Given the description of an element on the screen output the (x, y) to click on. 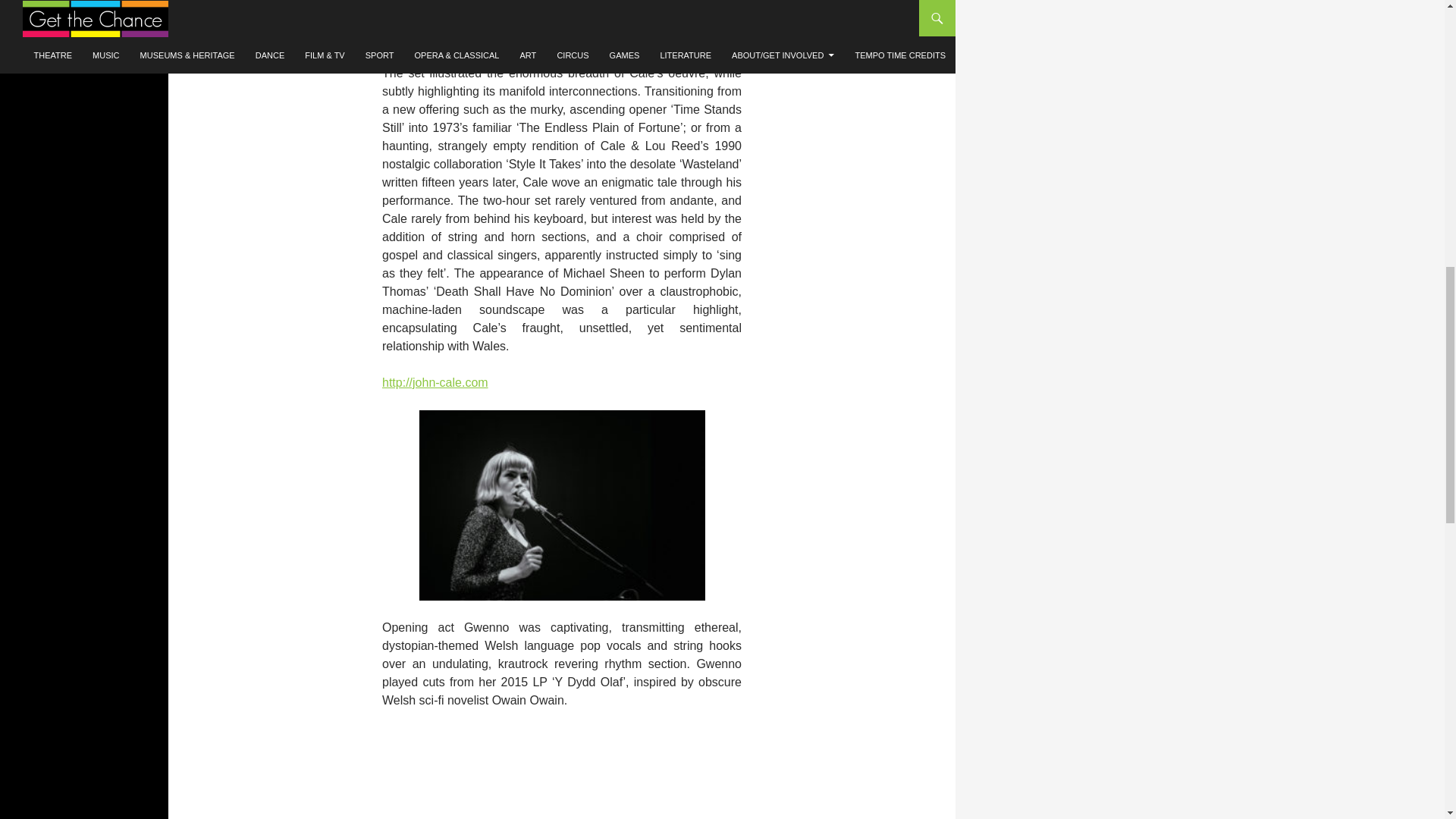
Chwyldro - GWENNO (561, 773)
